Given the description of an element on the screen output the (x, y) to click on. 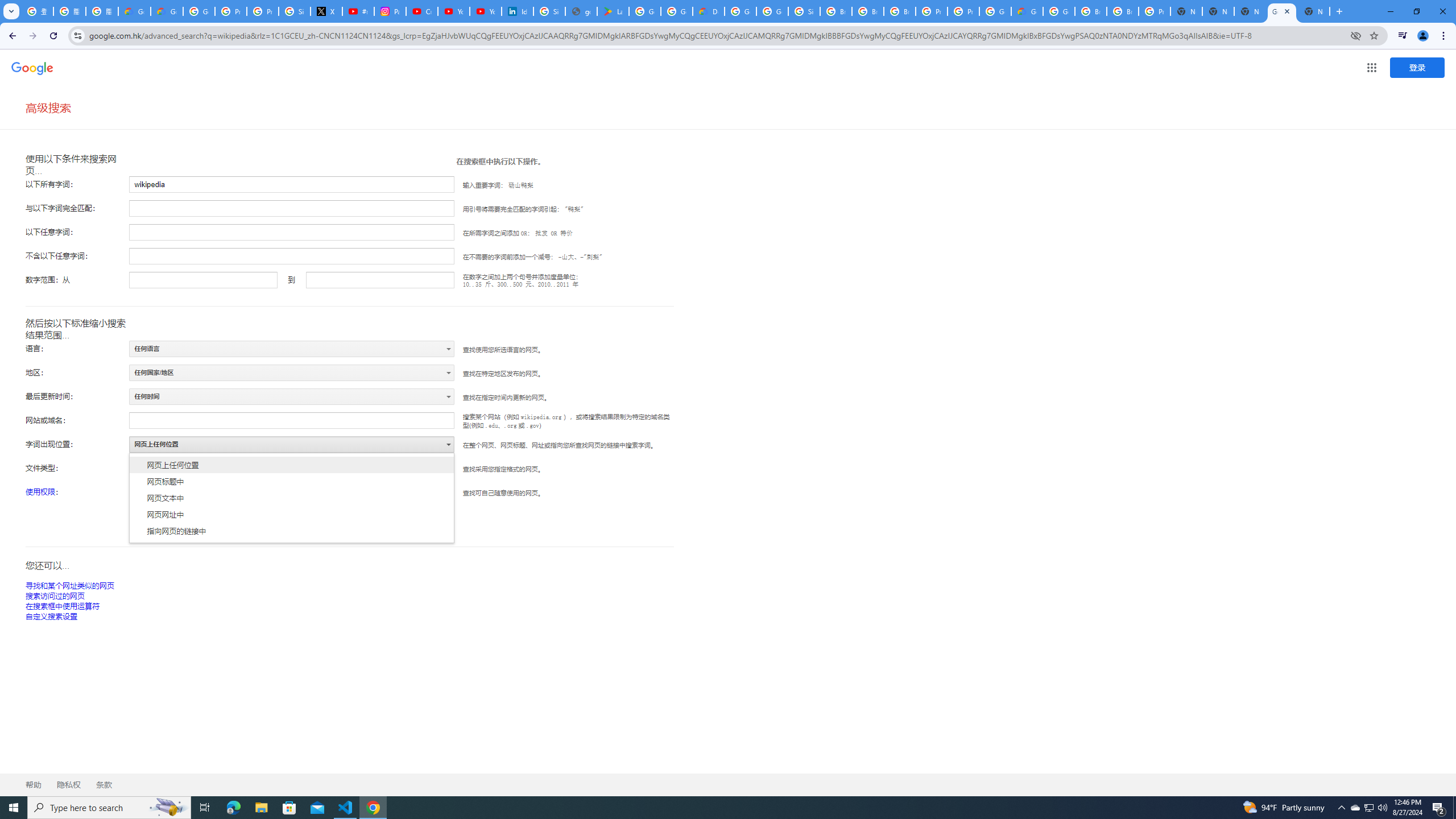
Browse Chrome as a guest - Computer - Google Chrome Help (1123, 11)
Browse Chrome as a guest - Computer - Google Chrome Help (836, 11)
Browse Chrome as a guest - Computer - Google Chrome Help (868, 11)
Last Shelter: Survival - Apps on Google Play (613, 11)
